Given the description of an element on the screen output the (x, y) to click on. 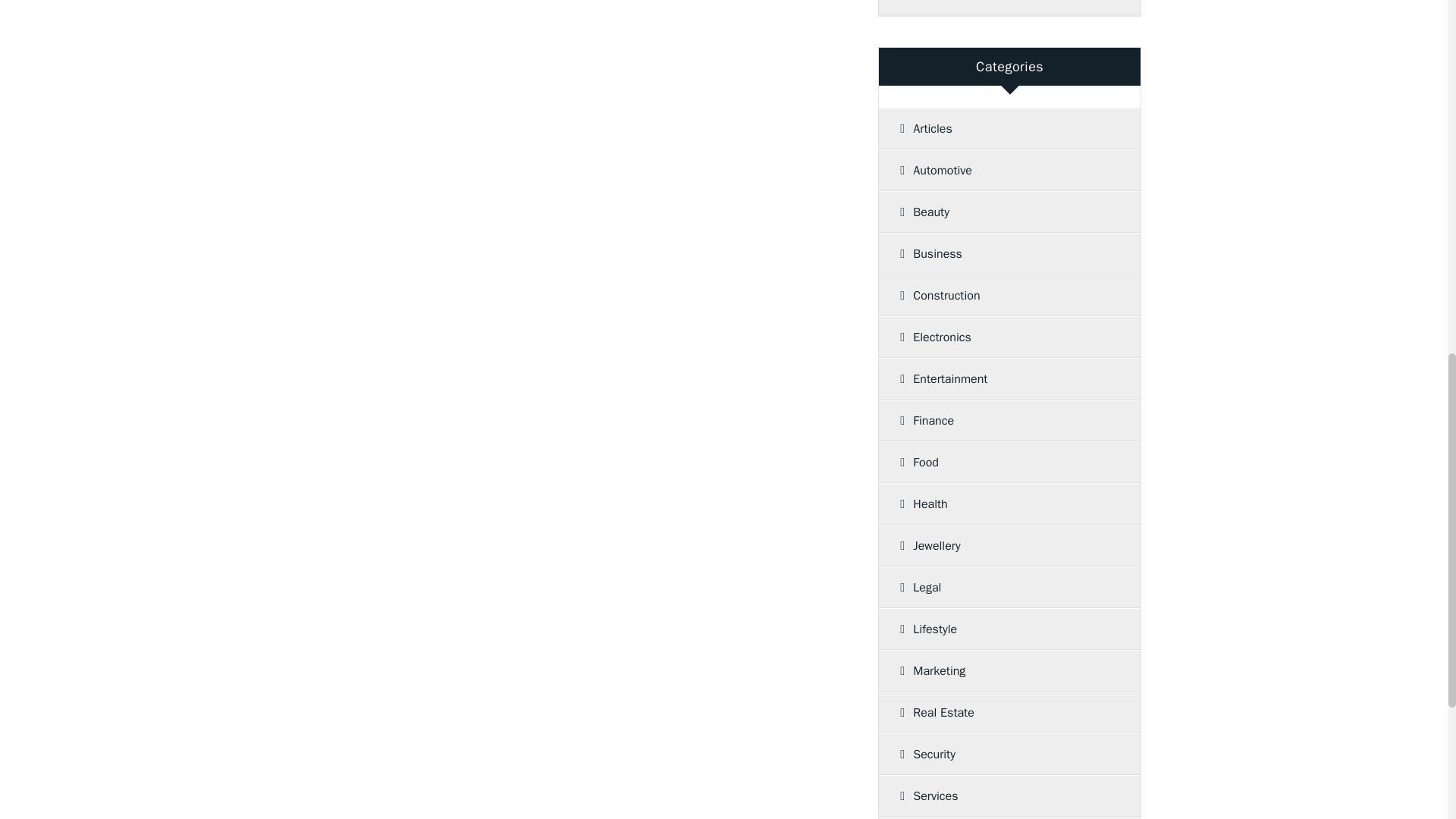
Business (1004, 253)
Jewellery (1004, 545)
Finance (1004, 420)
How to Find the Best Truck Rental Service (1009, 7)
Food (1004, 462)
Beauty (1004, 211)
Automotive (1004, 169)
Construction (1004, 295)
Electronics (1004, 336)
Entertainment (1004, 378)
Articles (1004, 128)
Health (1004, 504)
